Given the description of an element on the screen output the (x, y) to click on. 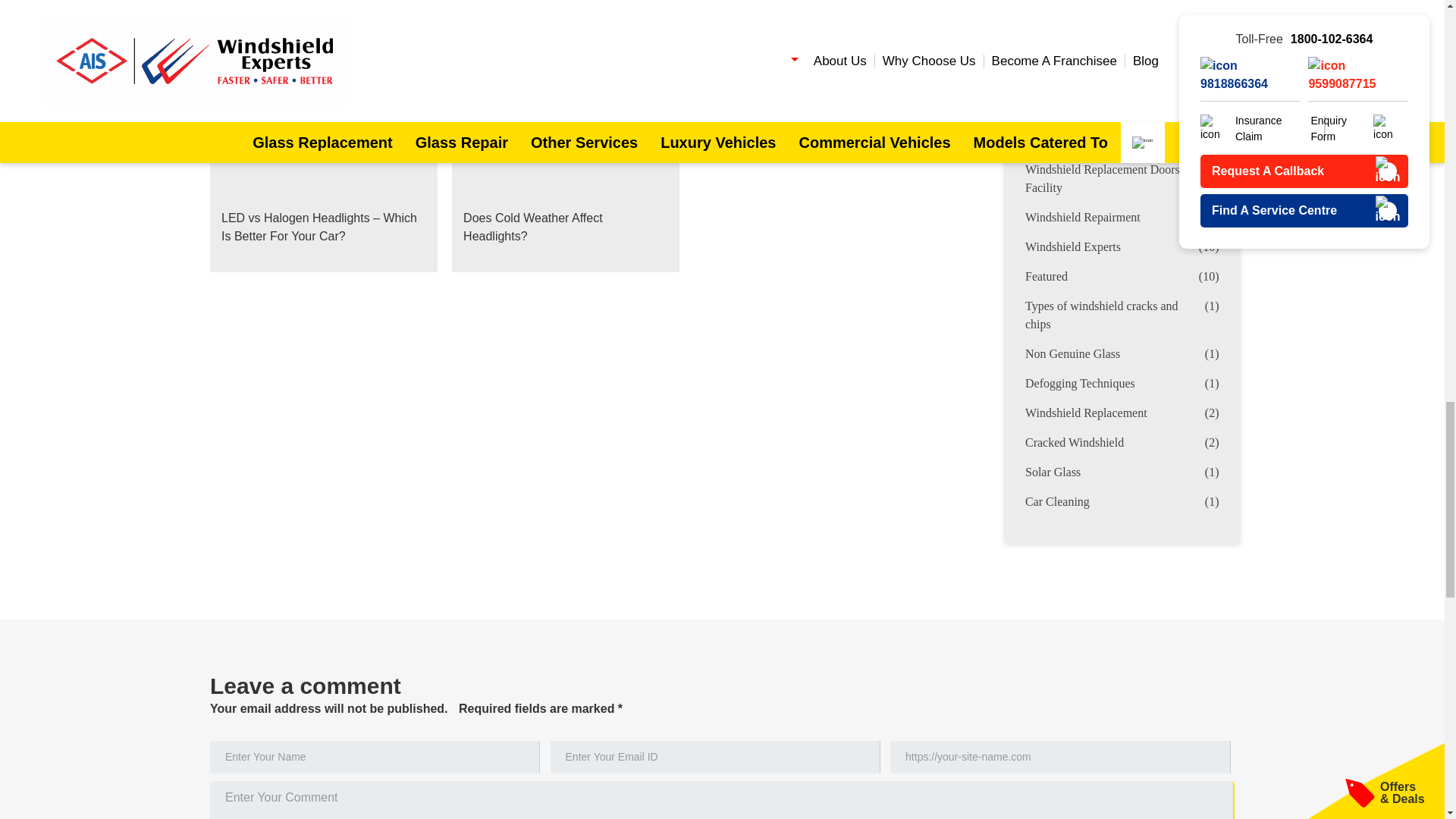
Does Cold Weather Affect Headlights? (565, 166)
The Bright Side: Projector vs Reflector Headlight (807, 17)
Difference Between LED and Halogen Headlight (299, 97)
Get Clear Vision Ahead: A Guide to Adjusting Car Headlights (323, 17)
How Headlight Restoration Works (565, 8)
